Given the description of an element on the screen output the (x, y) to click on. 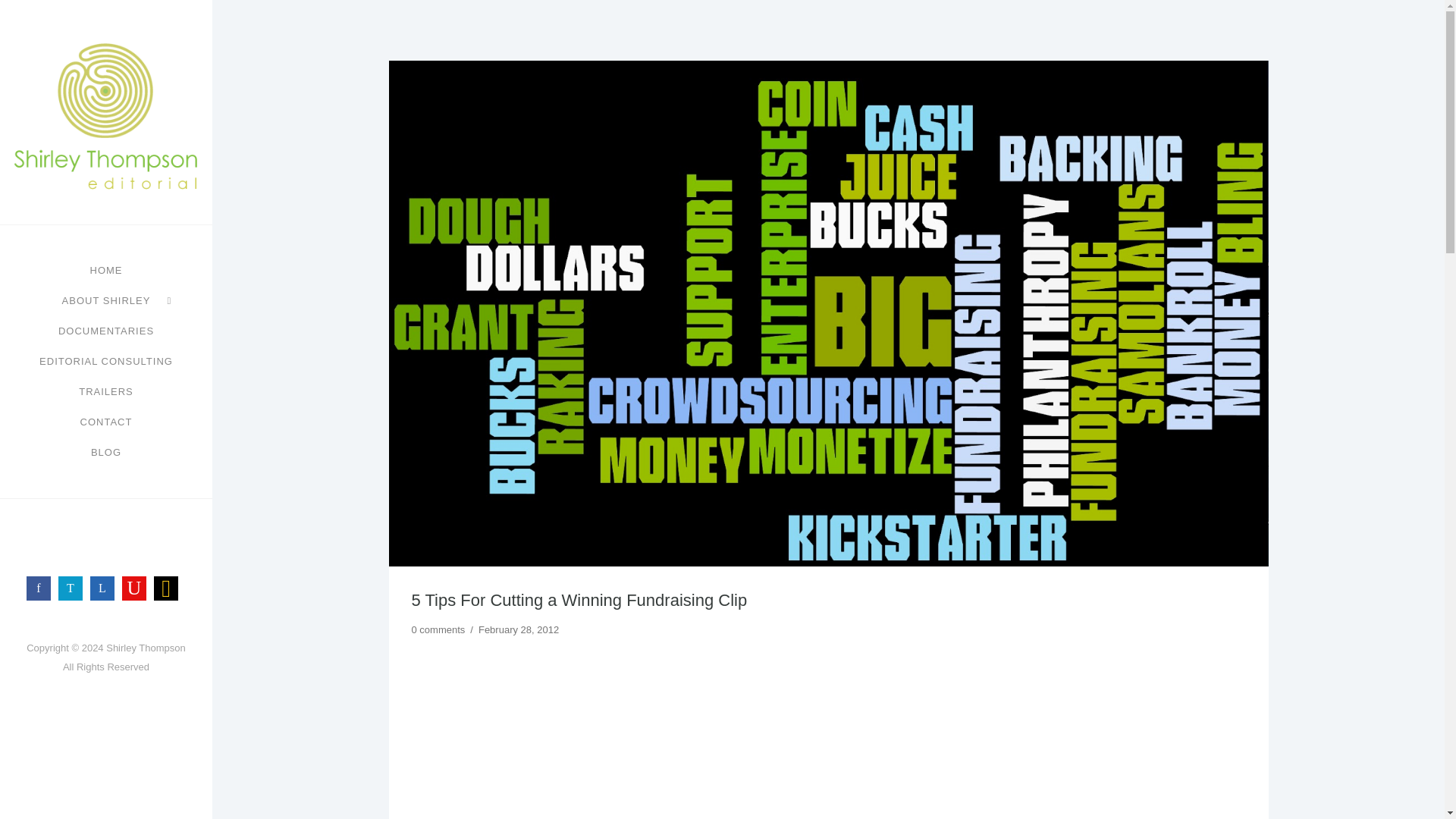
HOME (105, 270)
DOCUMENTARIES (106, 331)
ABOUT SHIRLEY (106, 300)
BLOG (105, 452)
About Shirley (106, 300)
CONTACT (106, 422)
0 comments (437, 629)
TRAILERS (105, 391)
Documentaries (106, 331)
Contact (106, 422)
Editorial Consulting (106, 361)
Blog (105, 452)
Trailers (105, 391)
Home (105, 270)
EDITORIAL CONSULTING (106, 361)
